Given the description of an element on the screen output the (x, y) to click on. 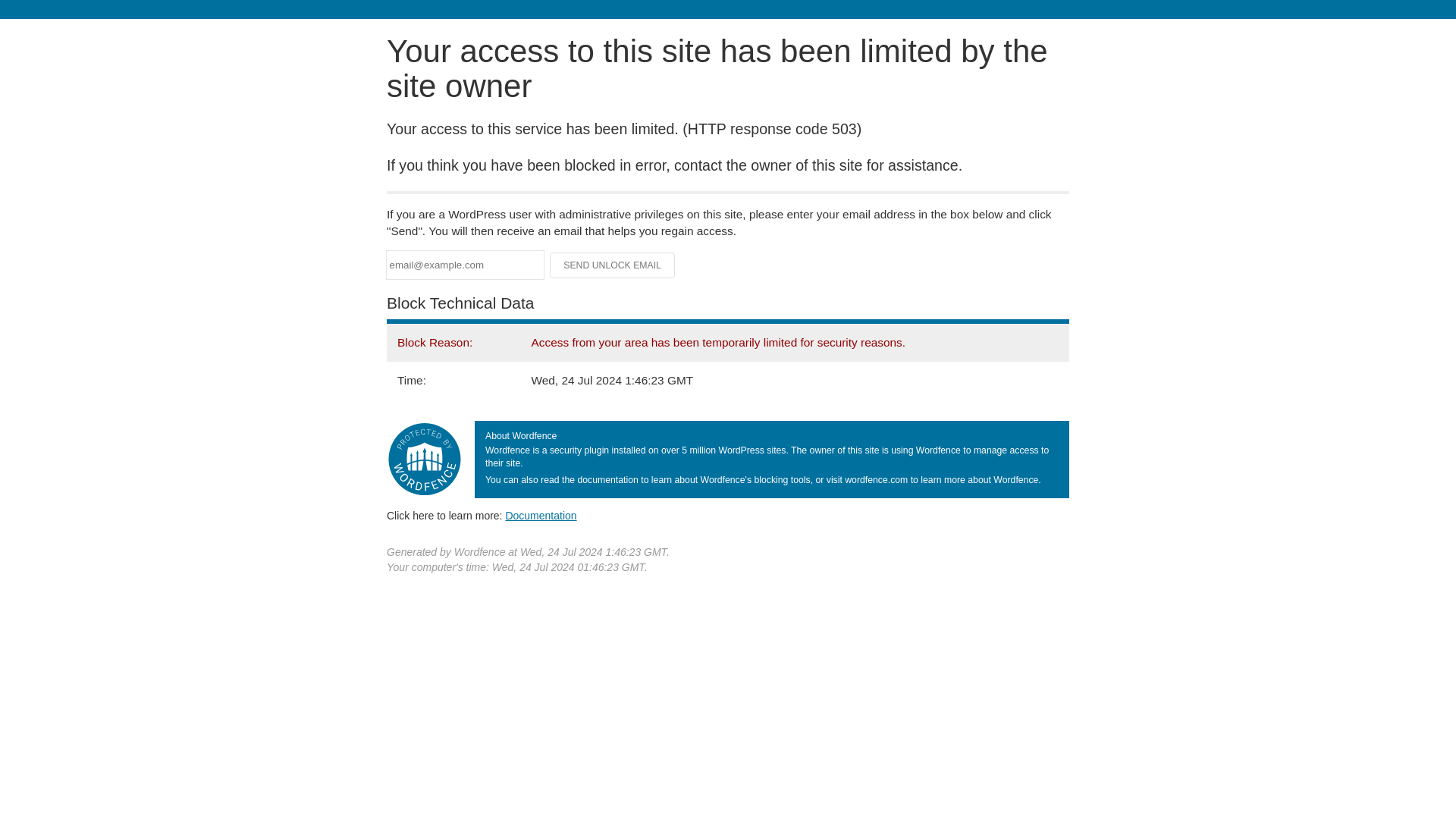
Send Unlock Email (612, 265)
Send Unlock Email (612, 265)
Documentation (540, 515)
